Given the description of an element on the screen output the (x, y) to click on. 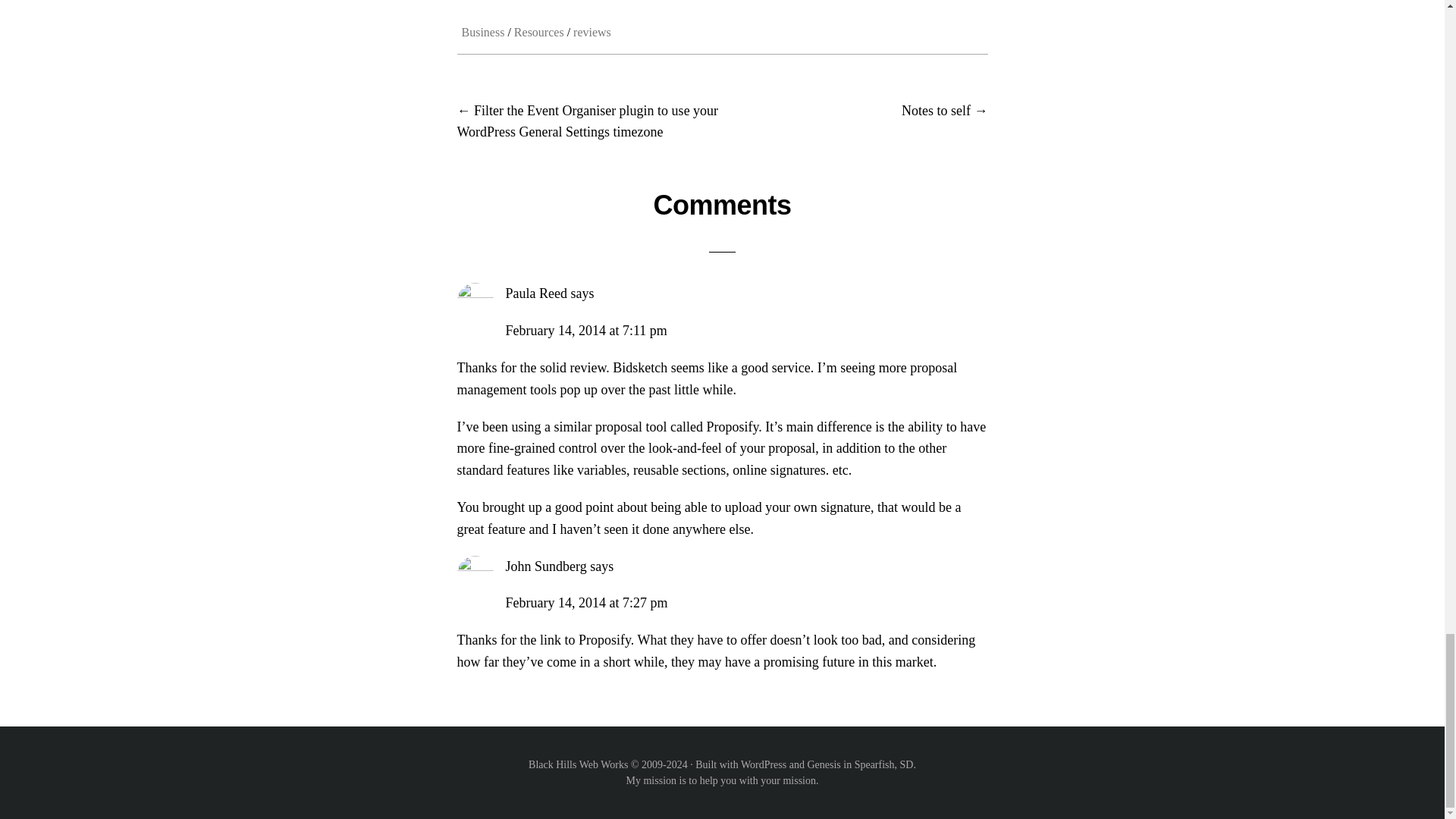
Proposify (732, 426)
John Sundberg (545, 566)
Business (482, 31)
WordPress (763, 764)
February 14, 2014 at 7:11 pm (585, 330)
February 14, 2014 at 7:27 pm (585, 602)
reviews (592, 31)
Genesis (823, 764)
Resources (538, 31)
